Given the description of an element on the screen output the (x, y) to click on. 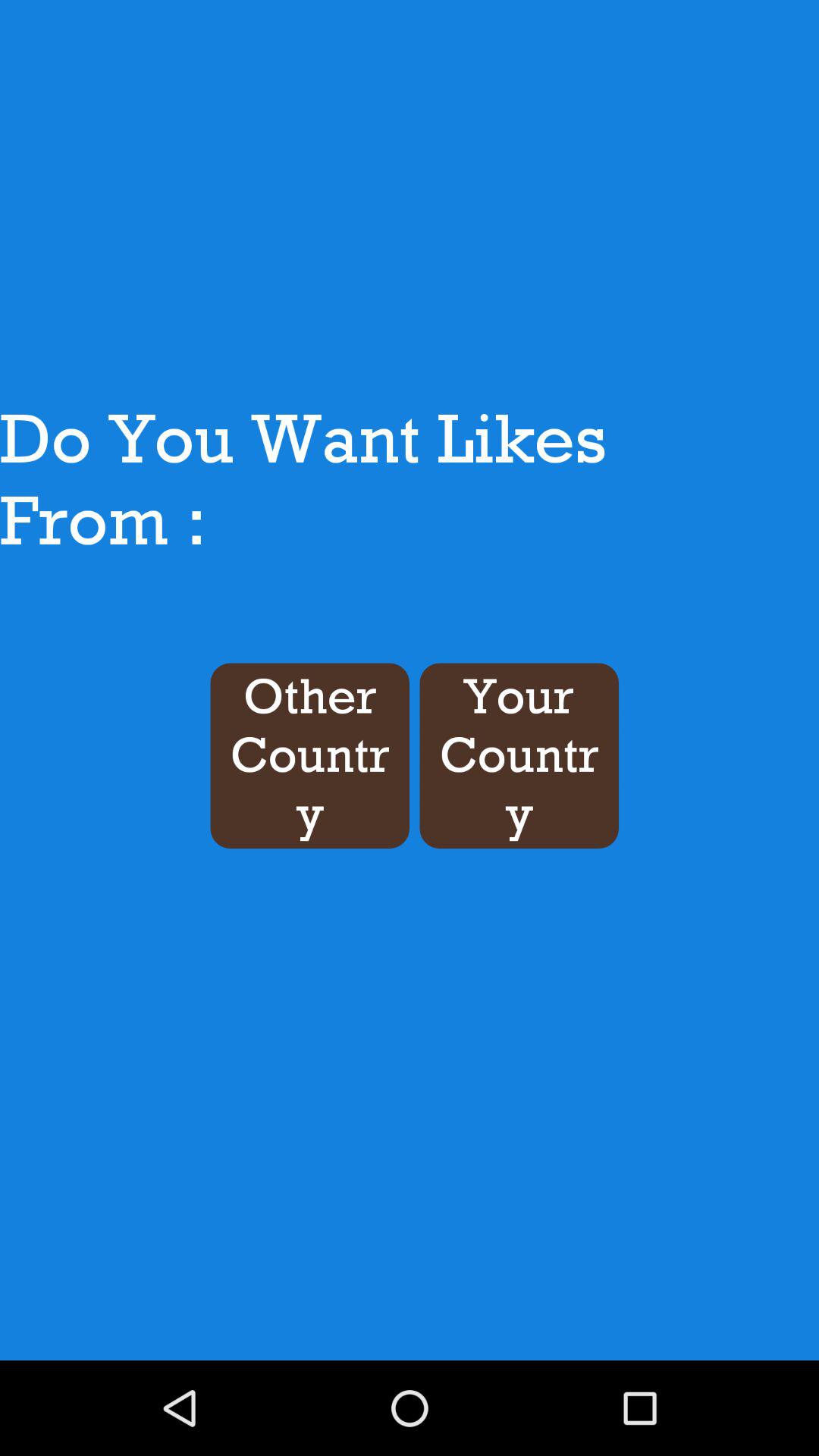
click the button next to the other country item (518, 755)
